Given the description of an element on the screen output the (x, y) to click on. 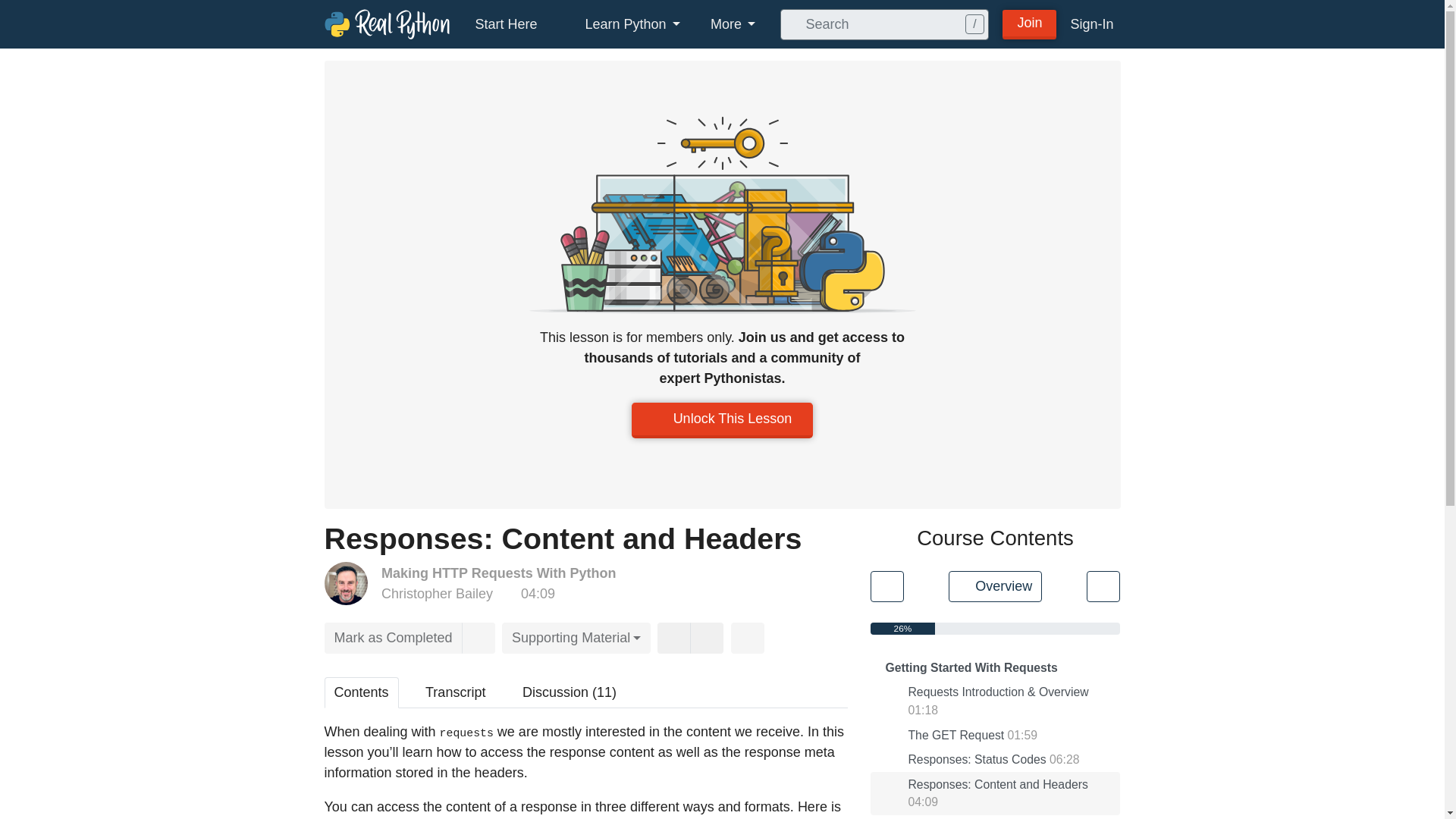
Supporting Material (576, 637)
Disliked it (706, 637)
Christopher Bailey (437, 593)
Start Here (505, 23)
Unlock This Lesson (722, 420)
Join (1030, 23)
Search (790, 23)
Contents (361, 692)
More (732, 23)
Liked it (674, 637)
